Given the description of an element on the screen output the (x, y) to click on. 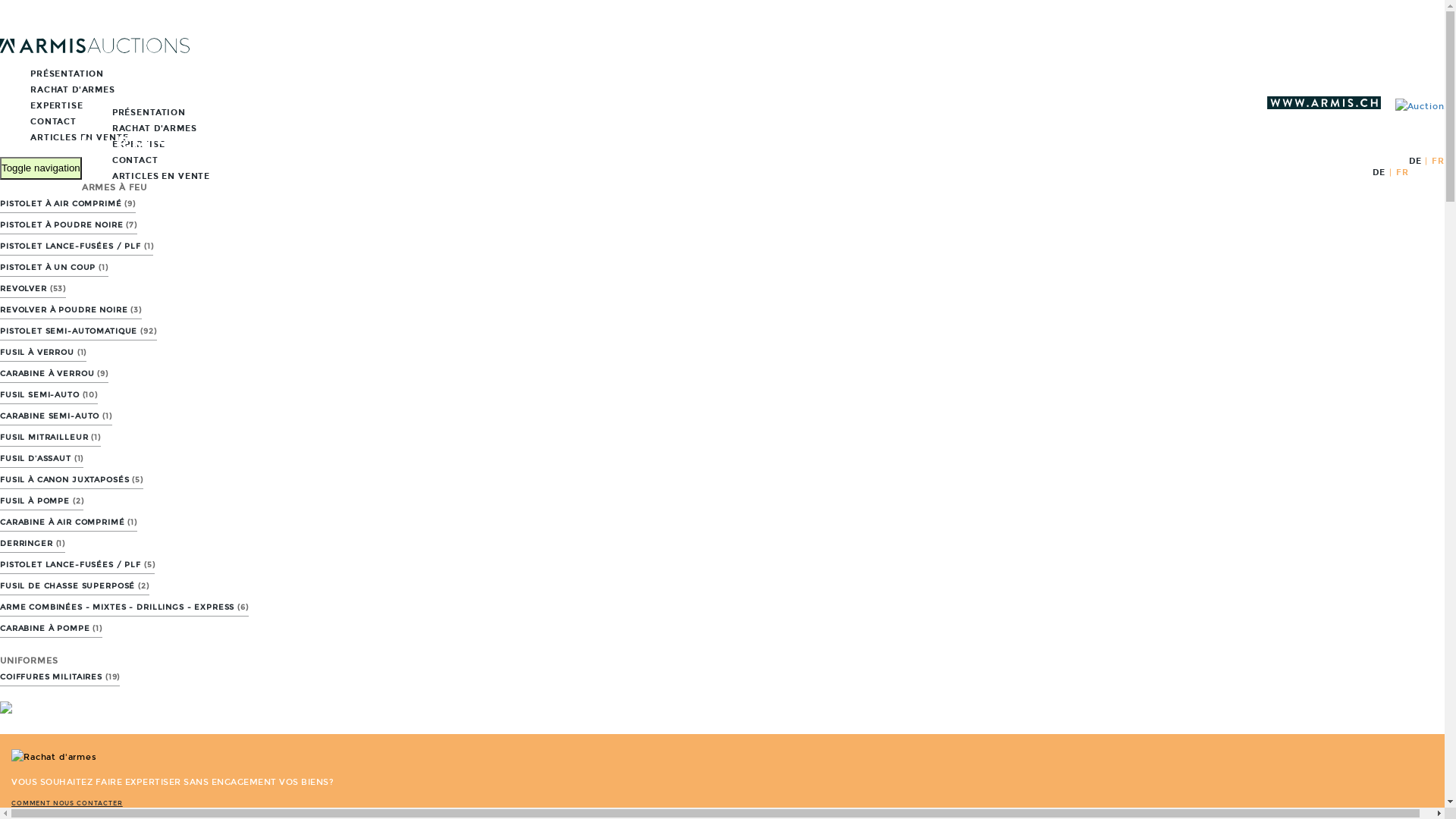
EXPERTISE Element type: text (41, 105)
FR Element type: text (1402, 172)
DE Element type: text (1414, 161)
DERRINGER (1) Element type: text (32, 544)
PISTOLET SEMI-AUTOMATIQUE (92) Element type: text (78, 331)
FUSIL MITRAILLEUR (1) Element type: text (50, 437)
CONTACT Element type: text (38, 121)
COIFFURES MILITAIRES (19) Element type: text (59, 677)
FR Element type: text (1437, 161)
Auction.ch Element type: hover (176, 148)
RACHAT D'ARMES Element type: text (57, 89)
Auction.ch Element type: hover (1413, 106)
RACHAT D'ARMES Element type: text (139, 128)
ARTICLES EN VENTE Element type: text (64, 137)
FUSIL D'ASSAUT (1) Element type: text (41, 459)
CONTACT Element type: text (119, 159)
CARABINE SEMI-AUTO (1) Element type: text (56, 416)
FUSIL SEMI-AUTO (10) Element type: text (48, 395)
REVOLVER (53) Element type: text (32, 289)
EXPERTISE Element type: text (123, 143)
DE Element type: text (1378, 172)
Toggle navigation Element type: text (40, 167)
ARTICLES EN VENTE Element type: text (145, 175)
Auction.ch Element type: hover (94, 50)
Armis.ch Element type: hover (1319, 106)
COMMENT NOUS CONTACTER Element type: text (66, 803)
